Given the description of an element on the screen output the (x, y) to click on. 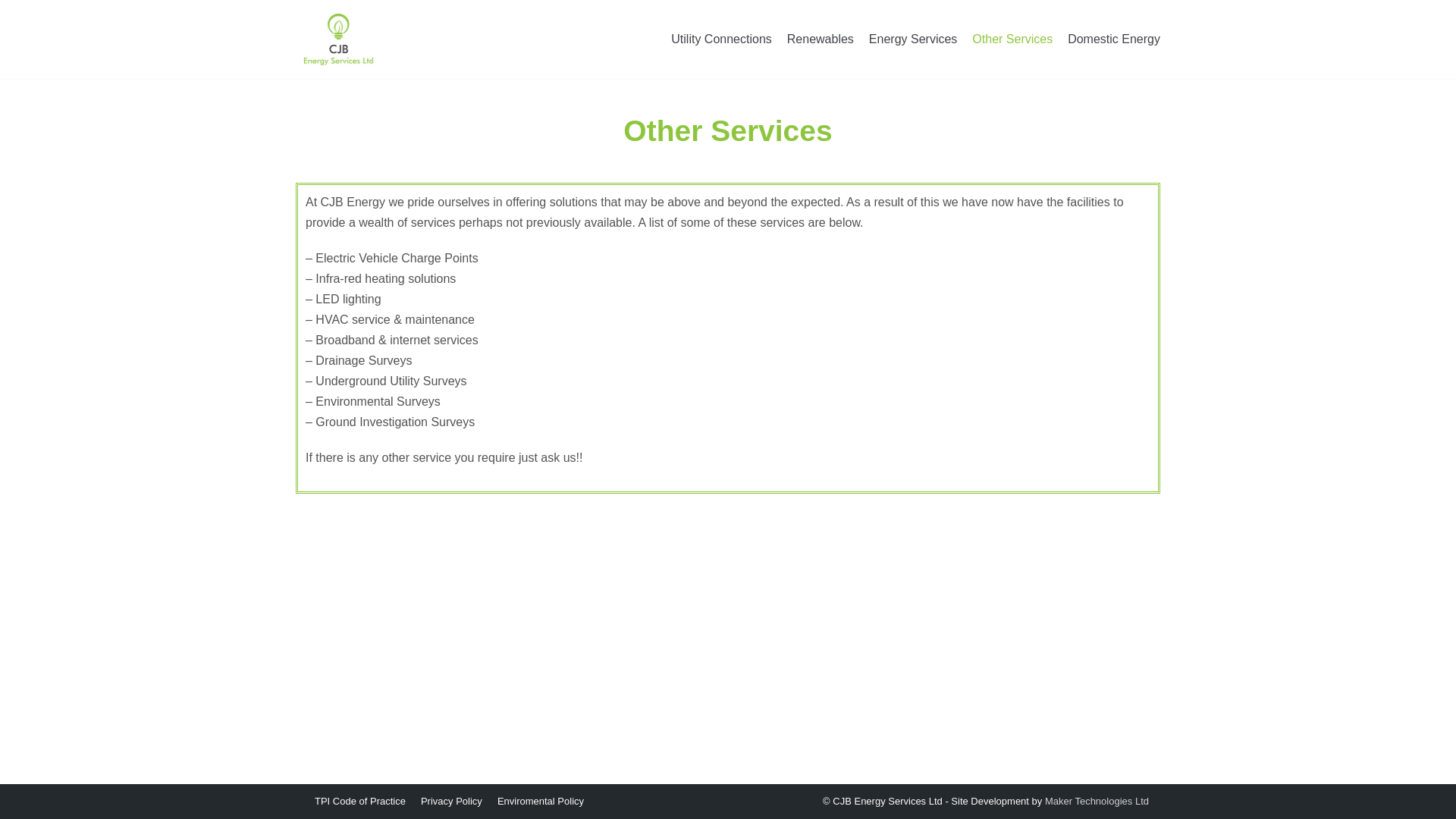
Skip to content (15, 7)
Other Services (1012, 39)
Enviromental Policy (540, 801)
Renewables (820, 39)
Energy Services (913, 39)
Privacy Policy (450, 801)
Maker Technologies Ltd (1096, 800)
Domestic Energy (1113, 39)
TPI Code of Practice (360, 801)
Utility Connections (721, 39)
CJB Energy Services (338, 39)
